Given the description of an element on the screen output the (x, y) to click on. 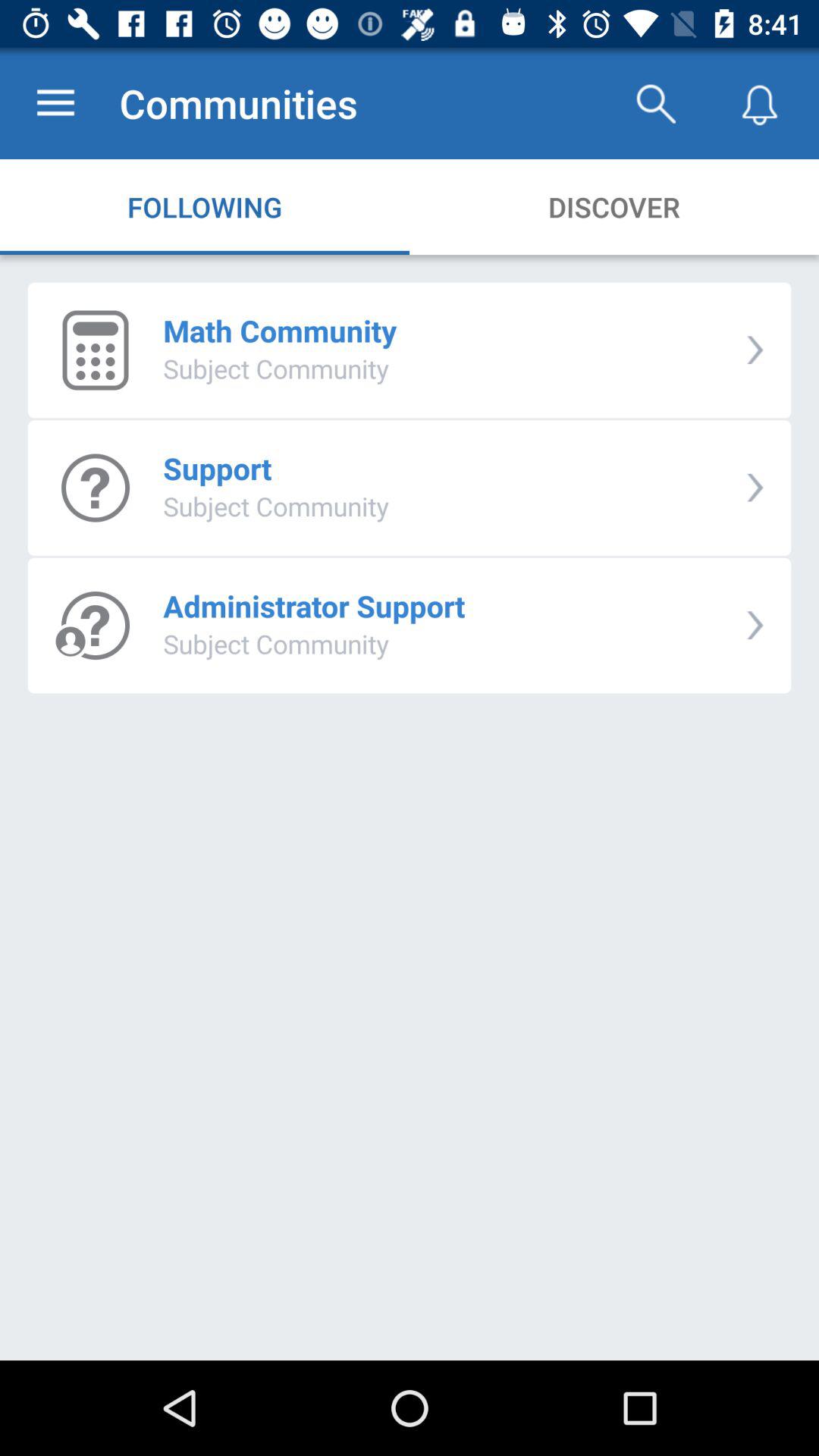
click the item to the right of the communities app (655, 103)
